Given the description of an element on the screen output the (x, y) to click on. 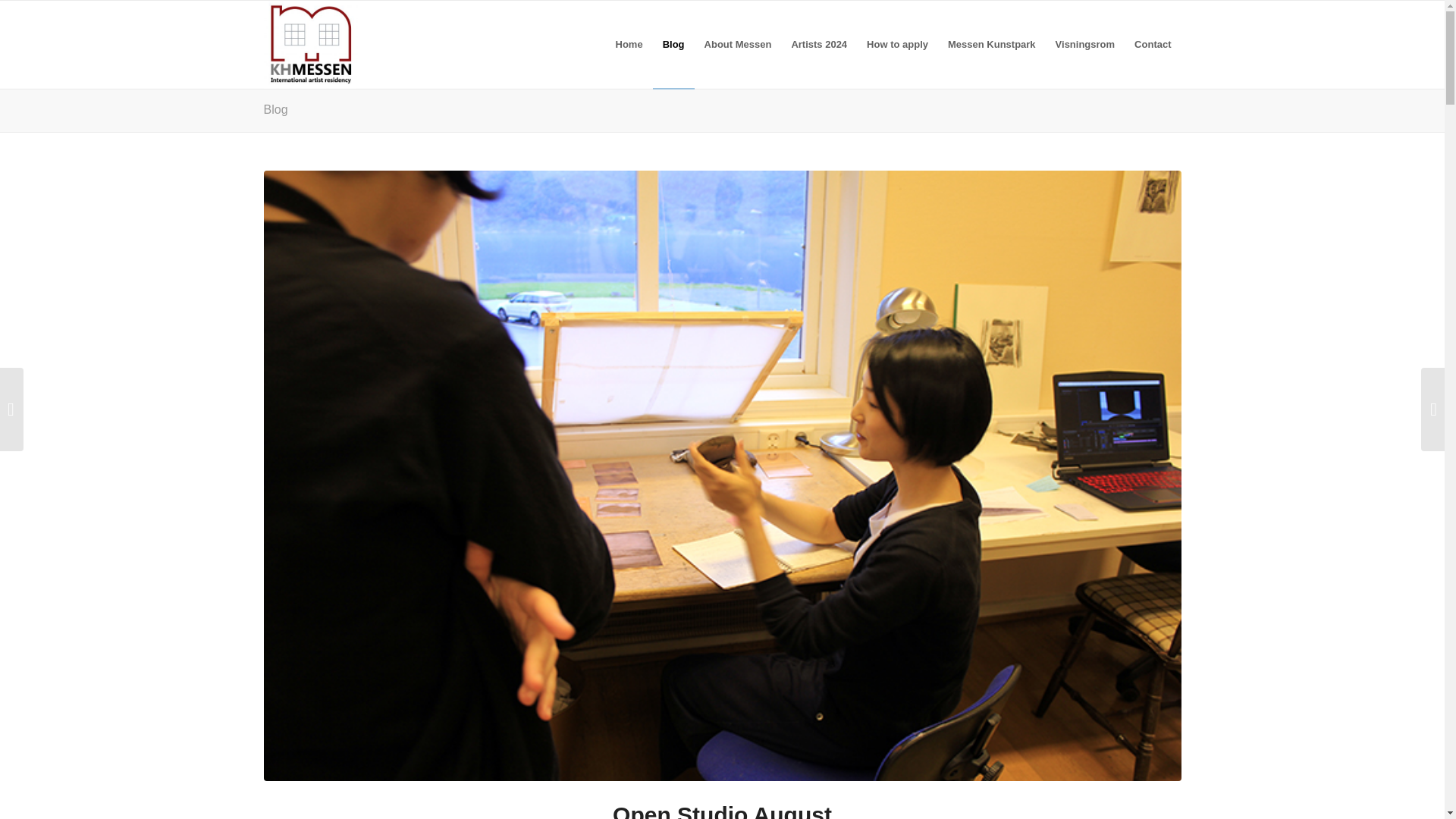
Blog (275, 109)
Messen Kunstpark (991, 44)
Permanent Link: Blog (275, 109)
How to apply (897, 44)
About Messen (737, 44)
Visningsrom (1085, 44)
